Given the description of an element on the screen output the (x, y) to click on. 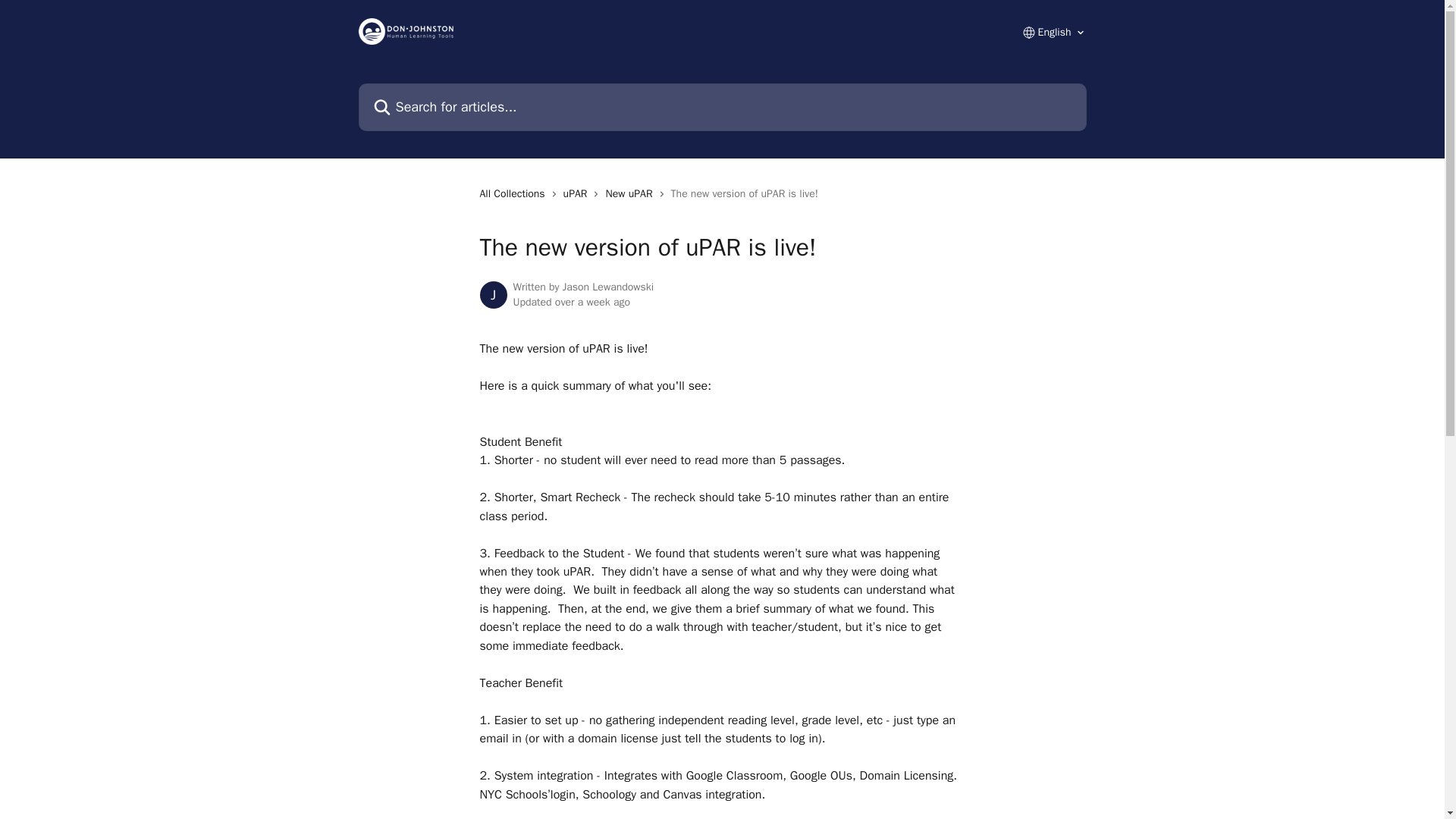
uPAR (578, 193)
New uPAR (631, 193)
All Collections (514, 193)
